Given the description of an element on the screen output the (x, y) to click on. 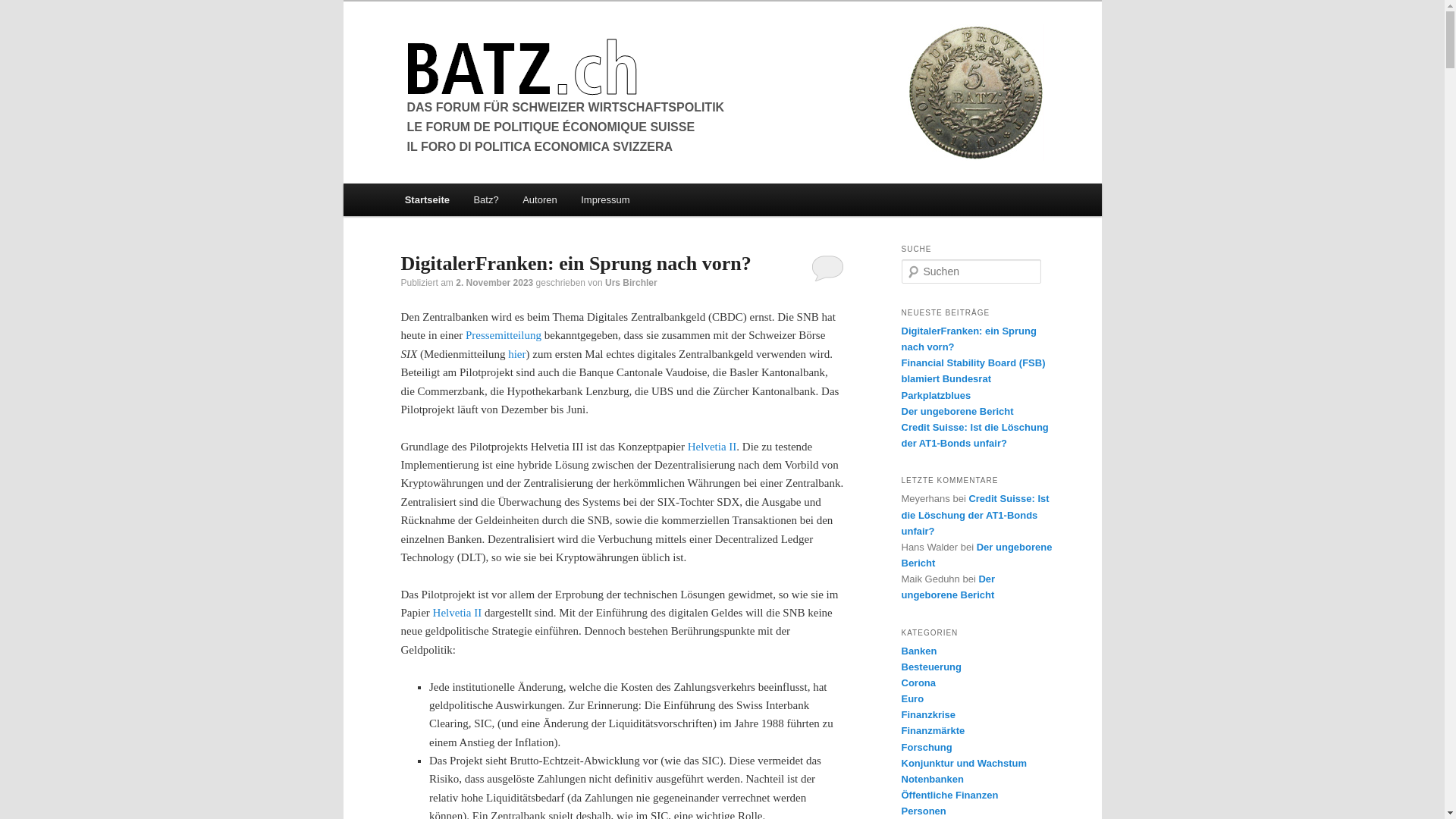
Notenbanken Element type: text (931, 778)
II Element type: text (475, 612)
Startseite Element type: text (426, 199)
Banken Element type: text (918, 650)
Parkplatzblues Element type: text (935, 395)
Der ungeborene Bericht Element type: text (975, 554)
Suchen Element type: text (21, 10)
Financial Stability Board (FSB) blamiert Bundesrat Element type: text (972, 370)
DigitalerFranken: ein Sprung nach vorn? Element type: text (575, 263)
Besteuerung Element type: text (930, 666)
Finanzkrise Element type: text (927, 714)
Urs Birchler Element type: text (631, 282)
Batz? Element type: text (486, 199)
Konjunktur und Wachstum Element type: text (963, 762)
DigitalerFranken: ein Sprung nach vorn? Element type: text (967, 338)
Helvetia II Element type: text (712, 446)
2. November 2023 Element type: text (494, 282)
Impressum Element type: text (604, 199)
Helvetia Element type: text (452, 612)
Der ungeborene Bericht Element type: text (947, 586)
Autoren Element type: text (539, 199)
Euro Element type: text (911, 698)
Pressemitteilung Element type: text (503, 335)
Zum Inhalt wechseln Element type: text (414, 183)
Forschung Element type: text (925, 747)
hier Element type: text (516, 354)
Batz Element type: hover (619, 66)
Der ungeborene Bericht Element type: text (956, 411)
Corona Element type: text (917, 682)
Personen Element type: text (922, 810)
